Given the description of an element on the screen output the (x, y) to click on. 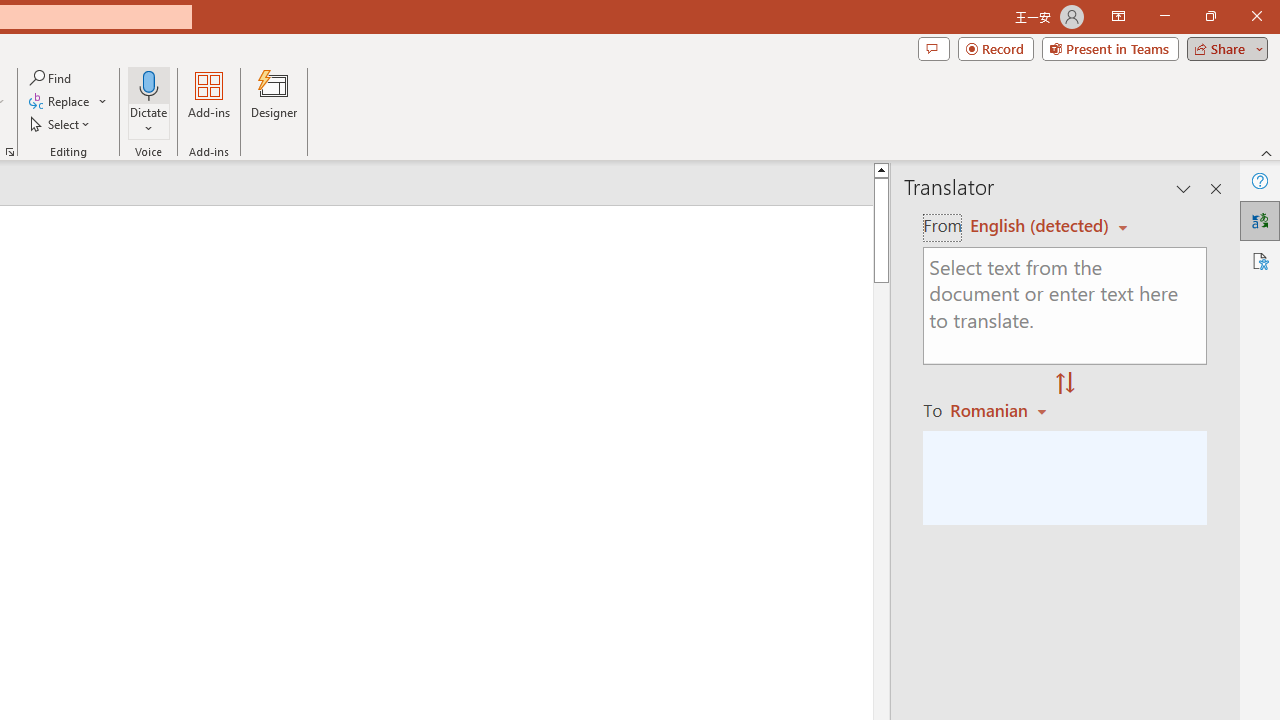
Romanian (1001, 409)
